Given the description of an element on the screen output the (x, y) to click on. 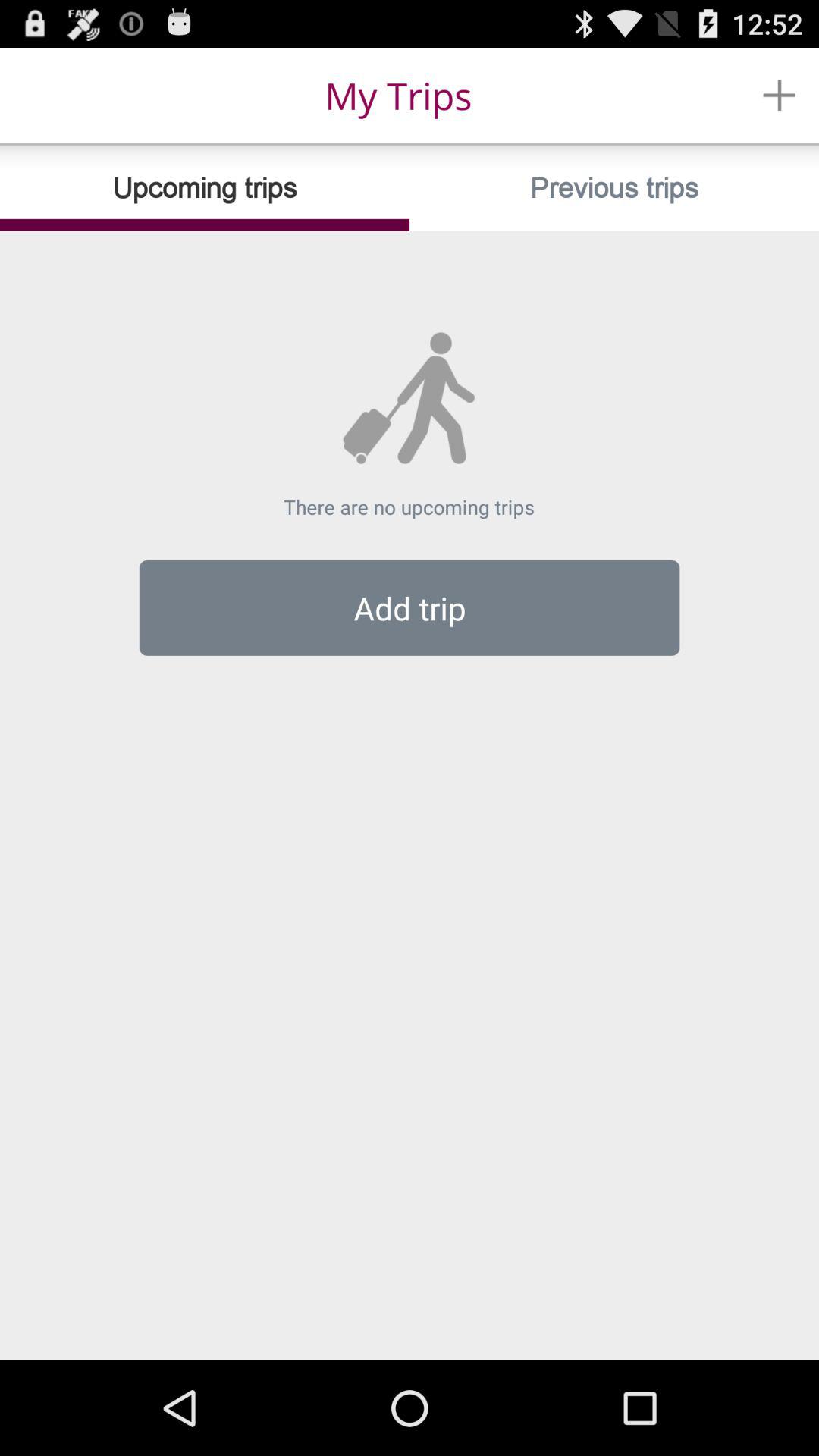
press the item above there are no (614, 187)
